Given the description of an element on the screen output the (x, y) to click on. 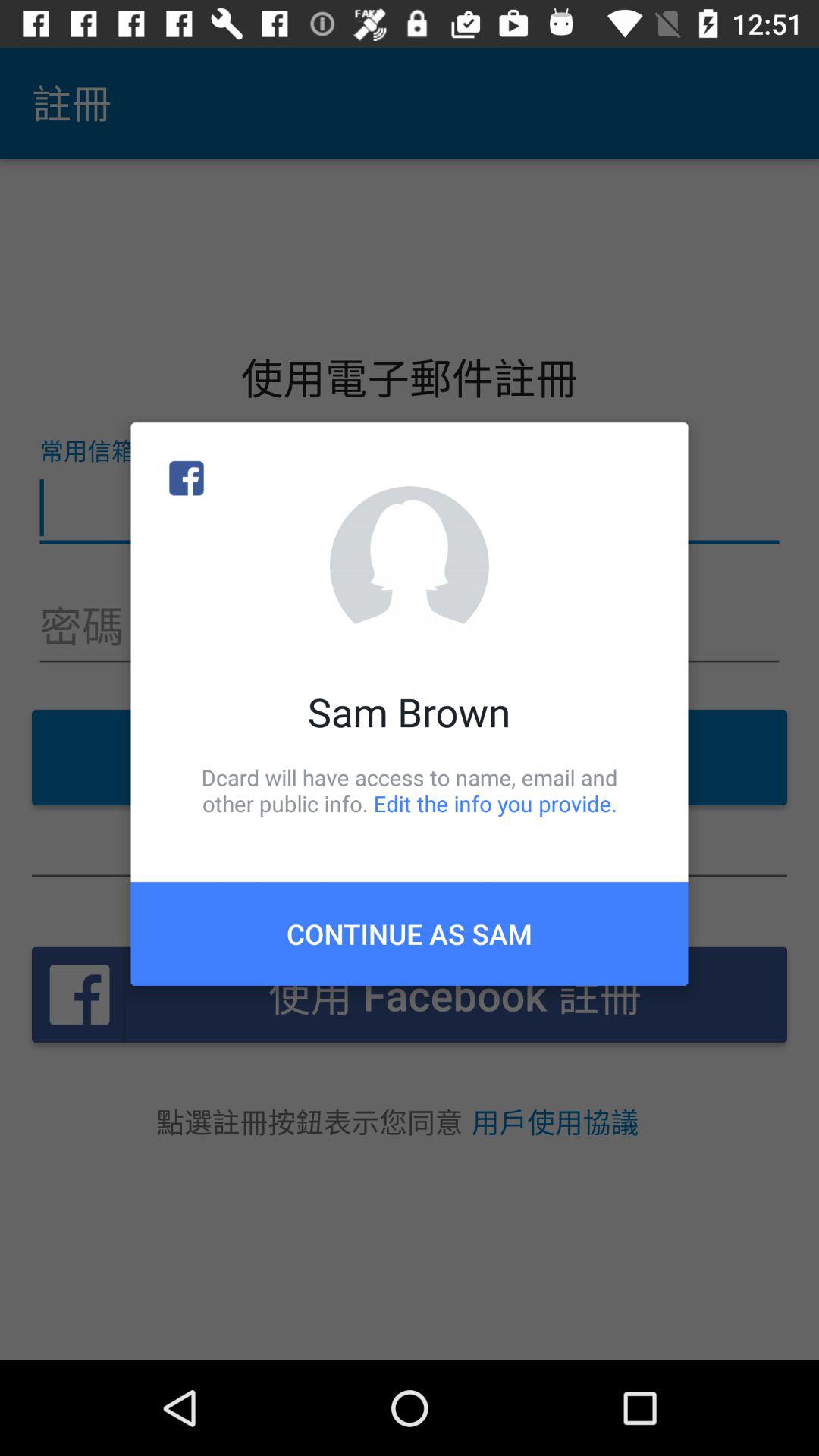
turn off the dcard will have icon (409, 790)
